Given the description of an element on the screen output the (x, y) to click on. 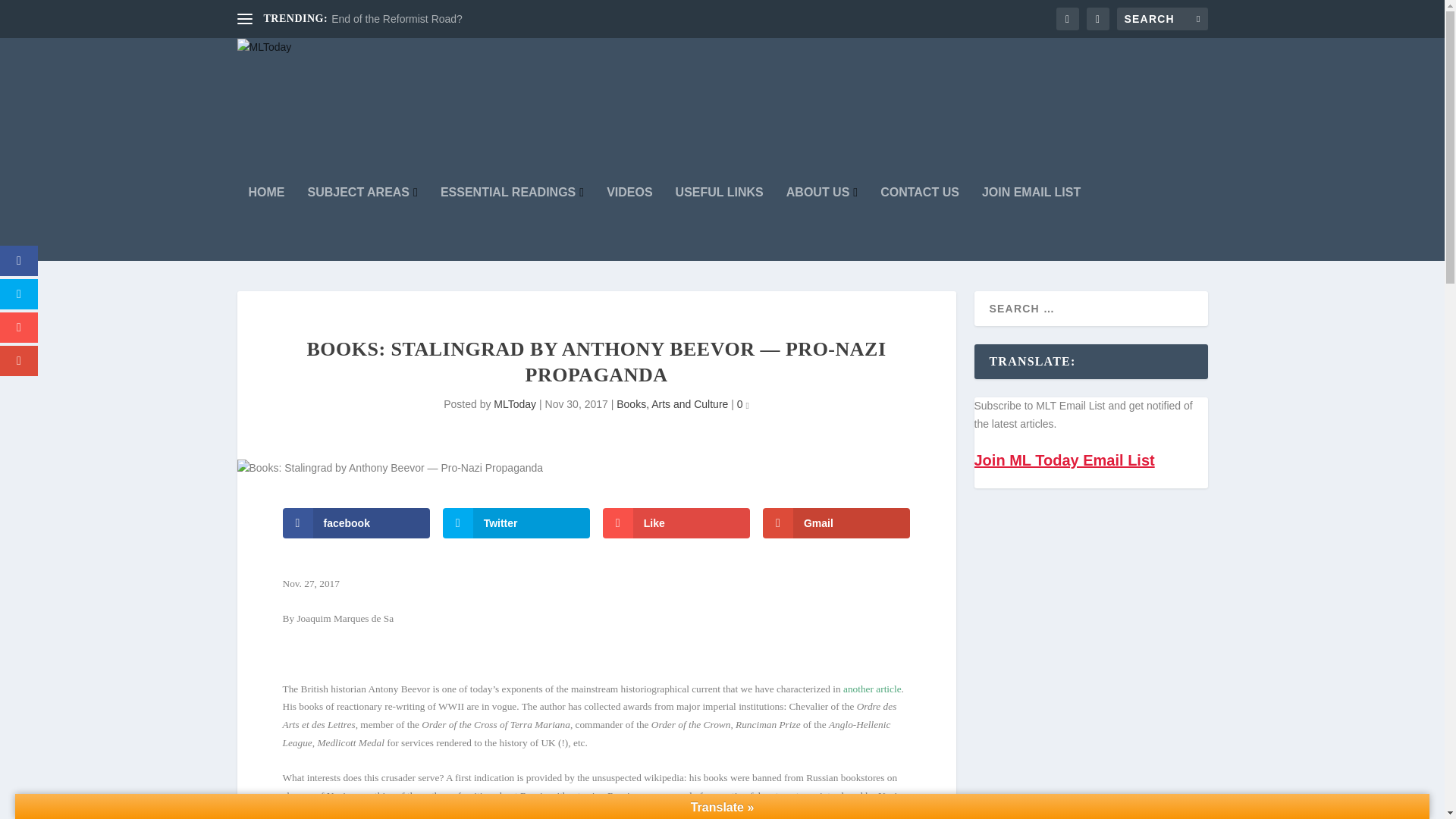
USEFUL LINKS (718, 223)
ABOUT US (821, 223)
Search for: (1161, 18)
SUBJECT AREAS (362, 223)
Posts by MLToday (514, 404)
ESSENTIAL READINGS (512, 223)
End of the Reformist Road? (397, 19)
